Given the description of an element on the screen output the (x, y) to click on. 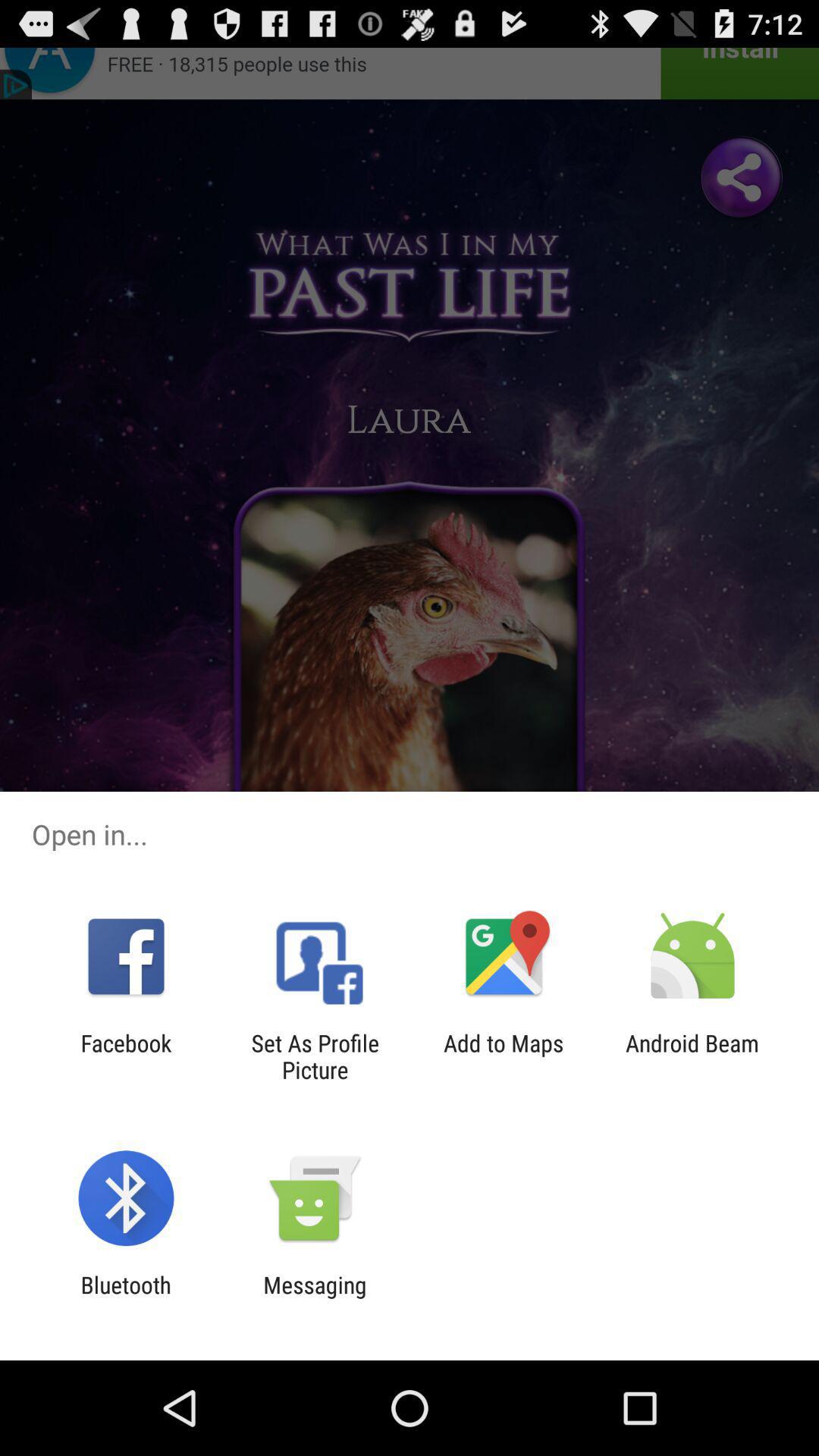
click the item next to the add to maps (692, 1056)
